Given the description of an element on the screen output the (x, y) to click on. 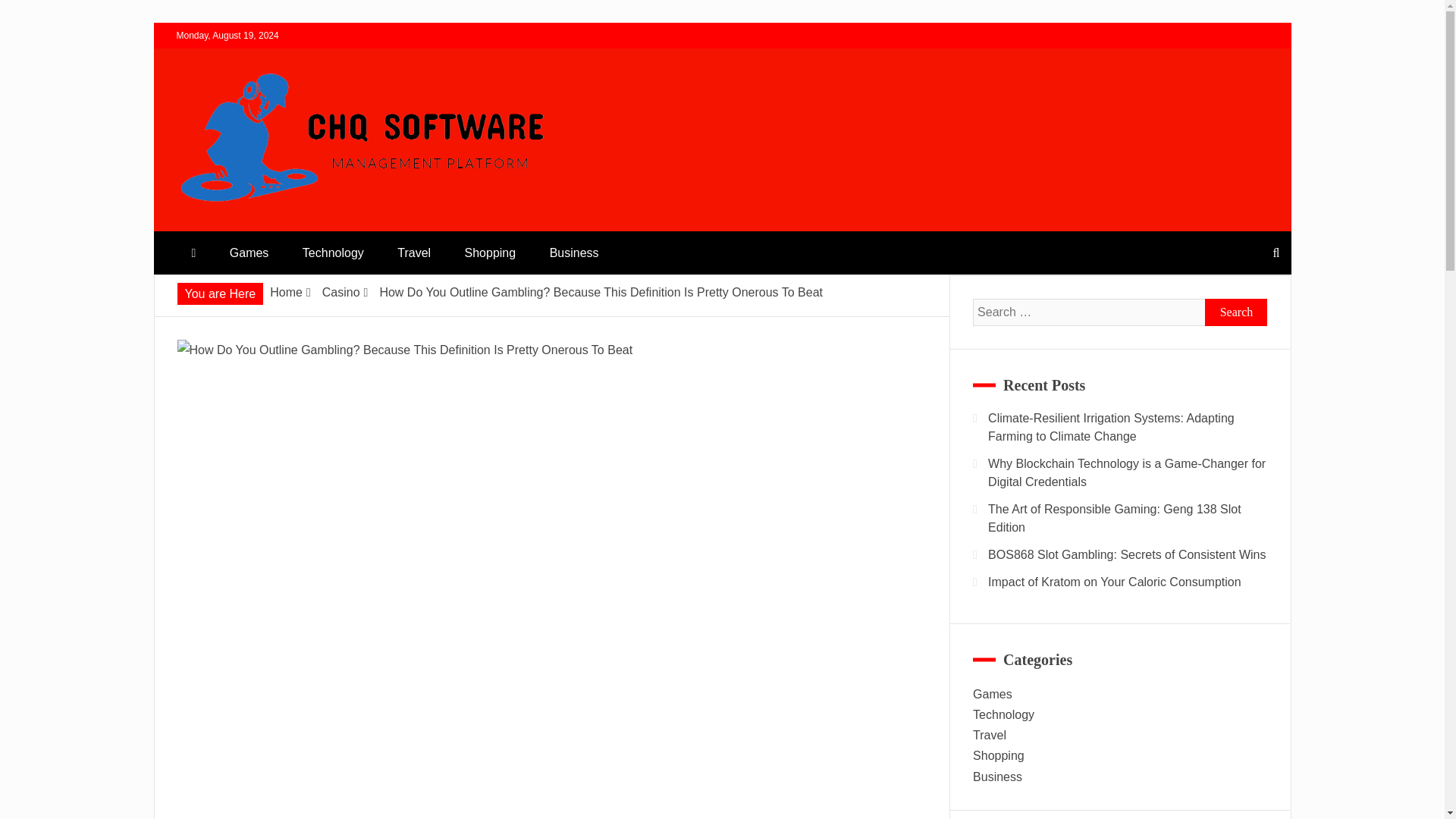
Games (248, 252)
The Art of Responsible Gaming: Geng 138 Slot Edition (1114, 517)
Business (574, 252)
Shopping (490, 252)
Search (31, 13)
Search (1235, 311)
Casino (340, 291)
Technology (332, 252)
Search (1235, 311)
